Given the description of an element on the screen output the (x, y) to click on. 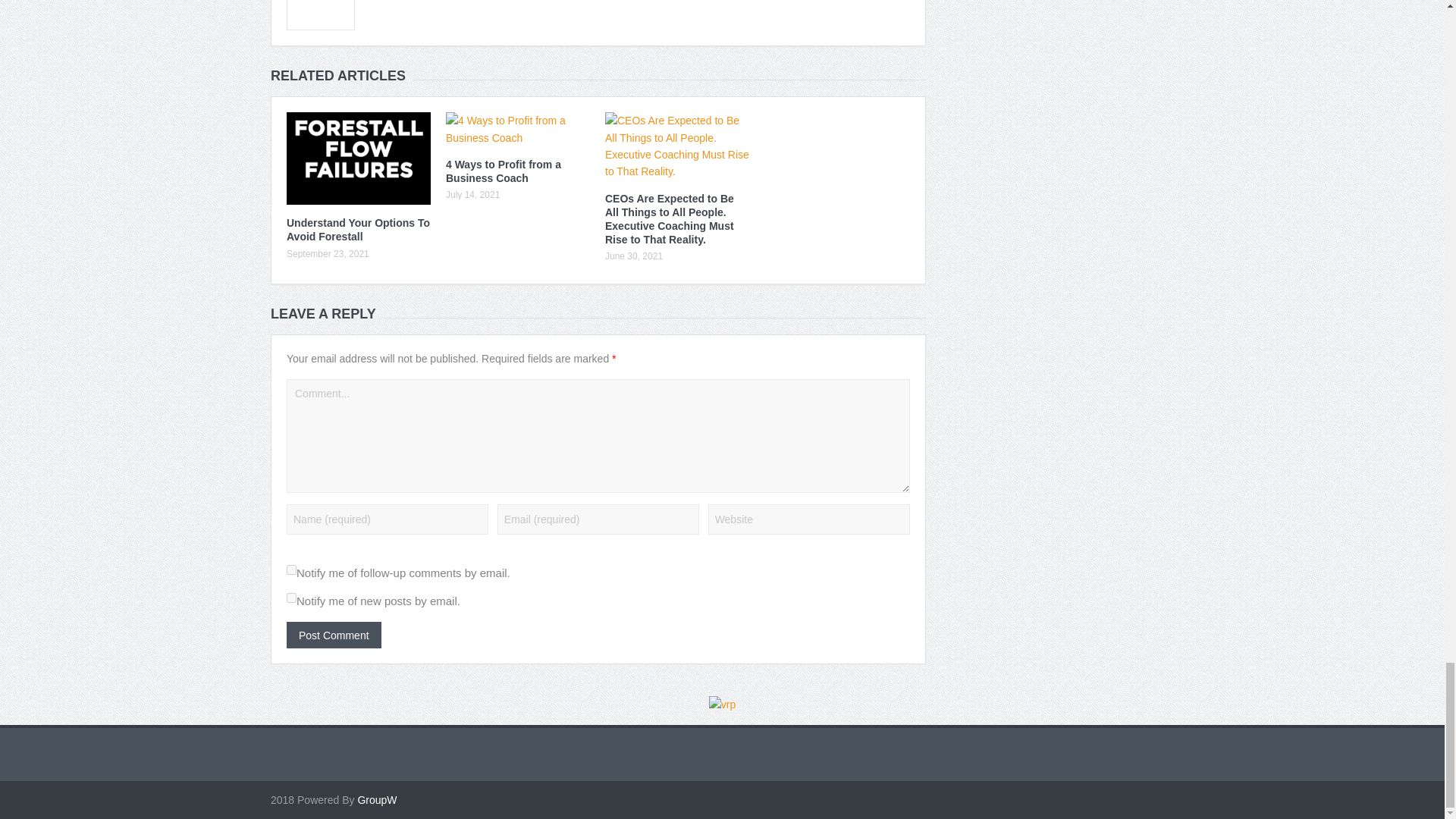
subscribe (291, 569)
Post Comment (333, 634)
subscribe (291, 597)
